Given the description of an element on the screen output the (x, y) to click on. 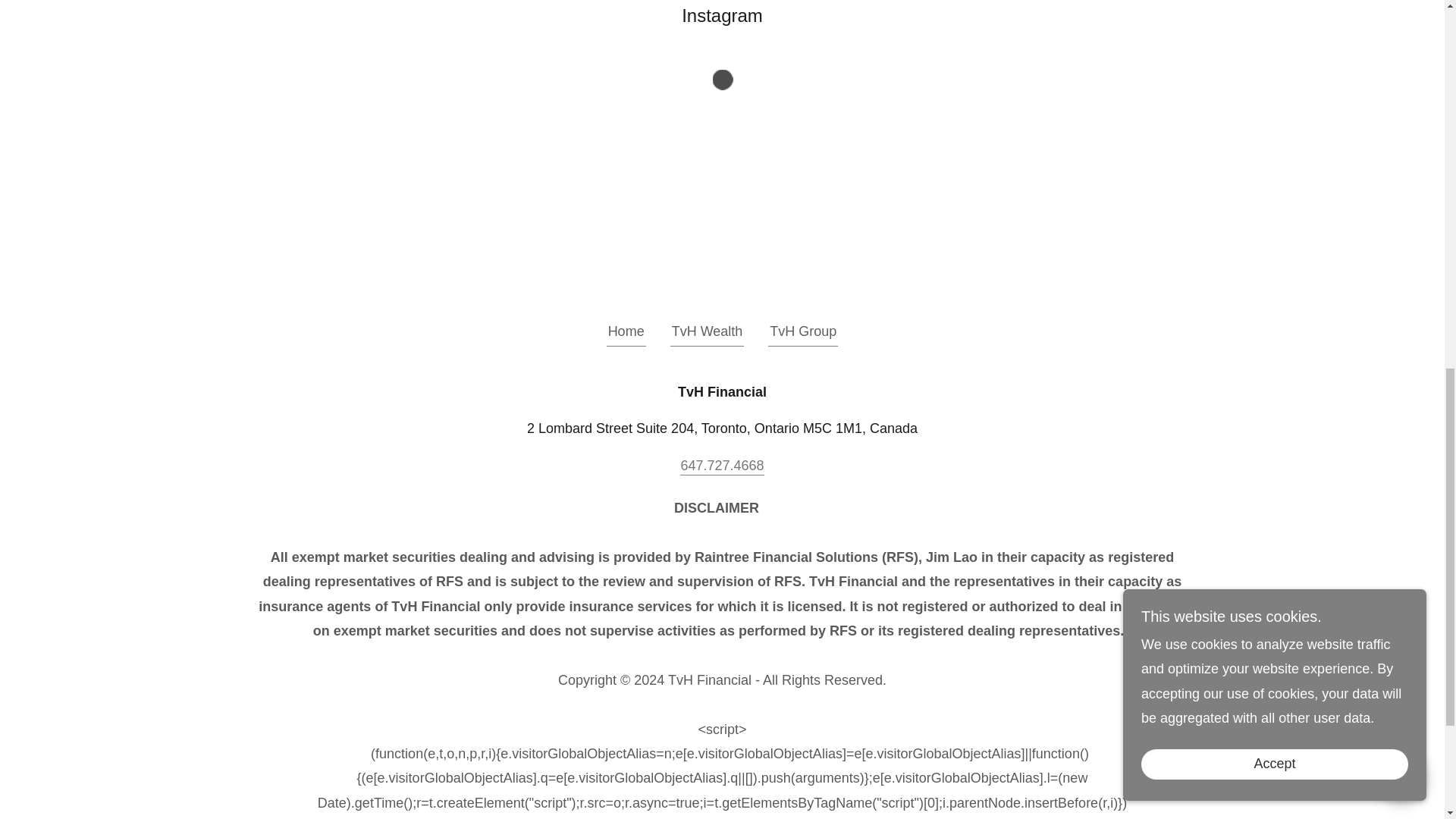
Home (626, 334)
647.727.4668 (720, 466)
TvH Wealth (706, 334)
TvH Group (803, 334)
